Given the description of an element on the screen output the (x, y) to click on. 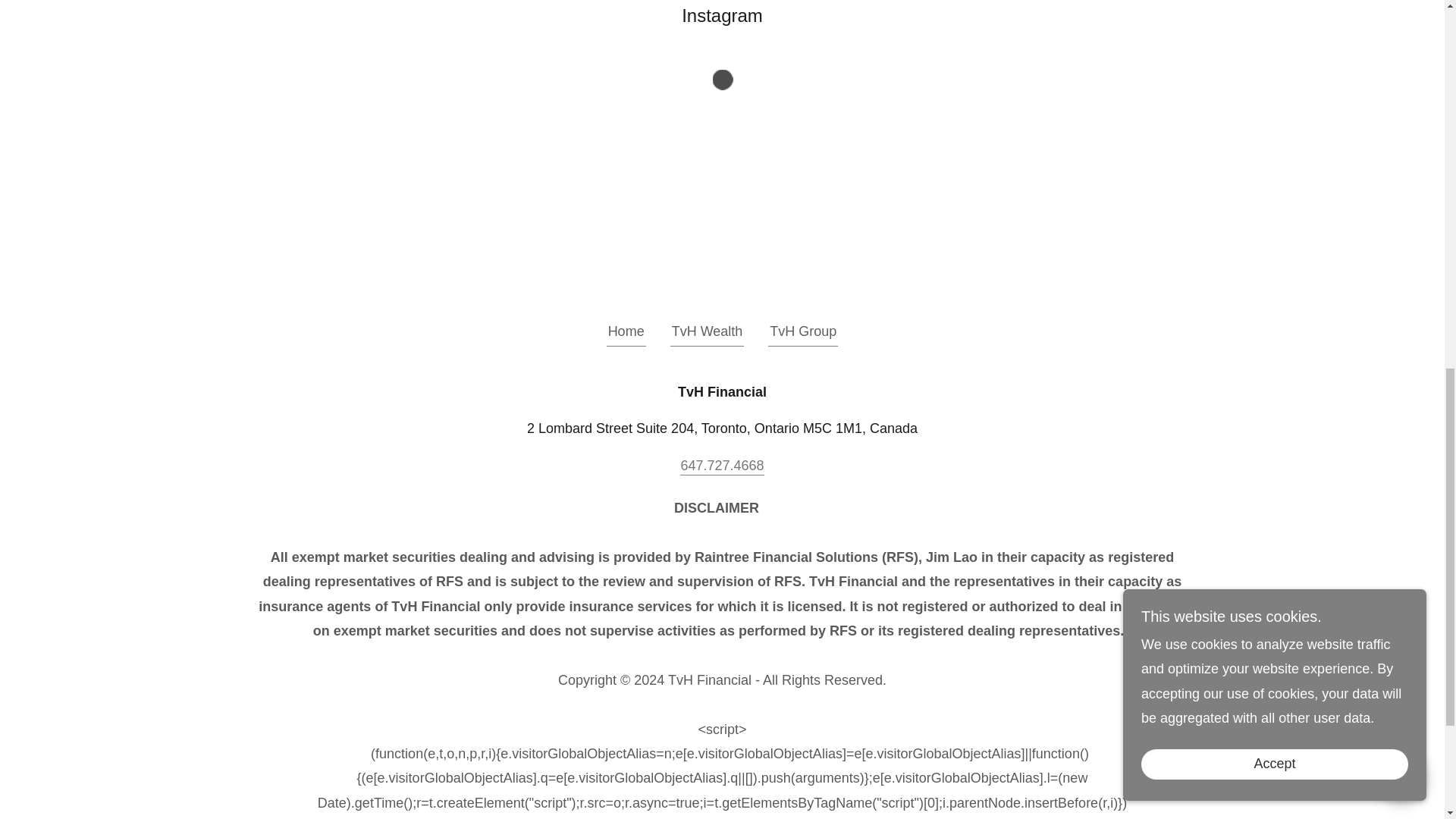
Home (626, 334)
647.727.4668 (720, 466)
TvH Wealth (706, 334)
TvH Group (803, 334)
